Given the description of an element on the screen output the (x, y) to click on. 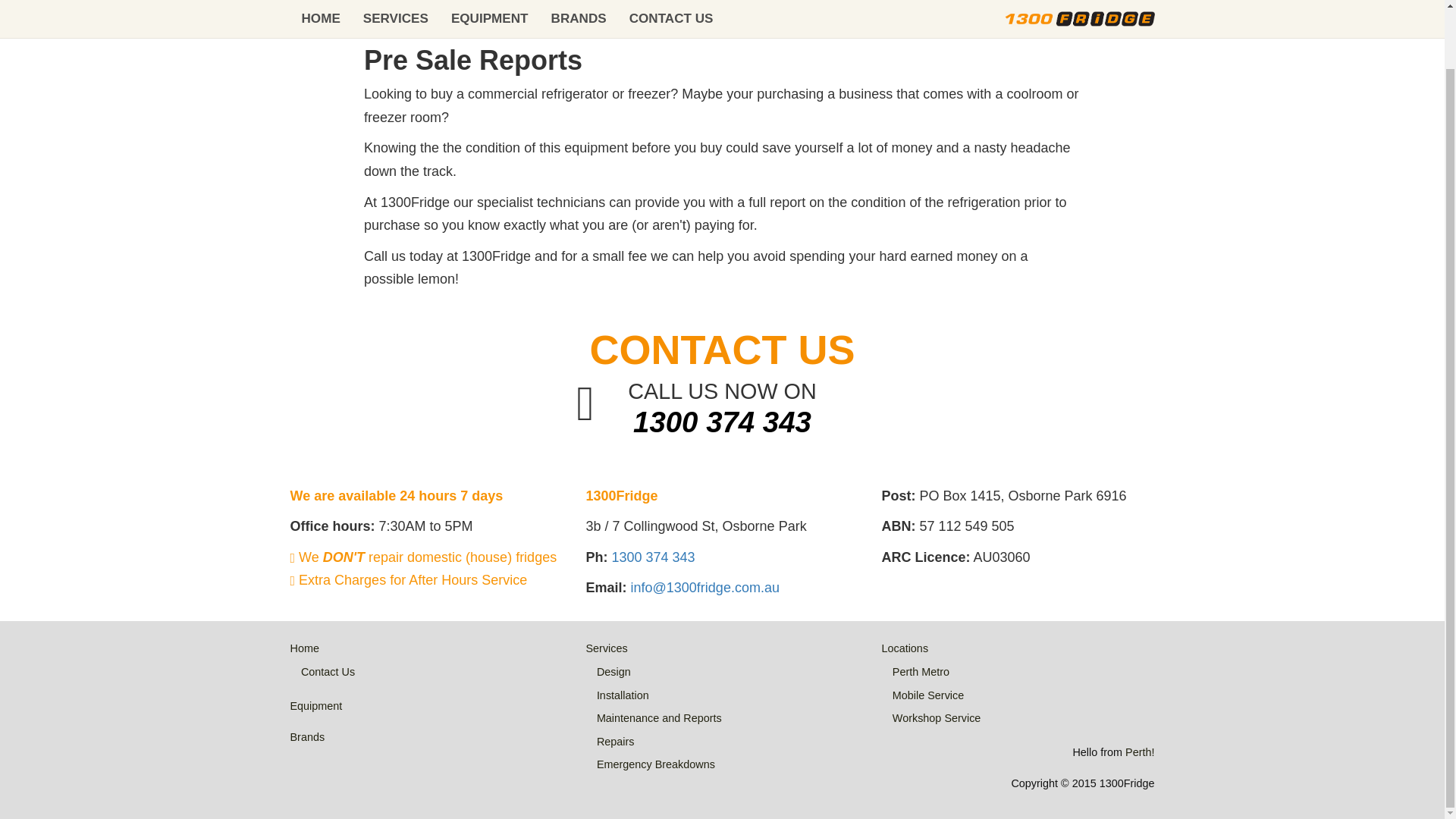
1300 374 343 (652, 557)
Workshop Service (936, 717)
Emergency Breakdowns (655, 764)
Maintenance and Reports (659, 717)
Locations (904, 648)
Brands (306, 736)
Mobile Service (927, 695)
Contact Us (328, 671)
Equipment (315, 705)
Installation (622, 695)
Commercial Refrigeration Services (568, 11)
Services (606, 648)
Home (303, 648)
Perth Metro (920, 671)
Maintenance and Reports (770, 11)
